Given the description of an element on the screen output the (x, y) to click on. 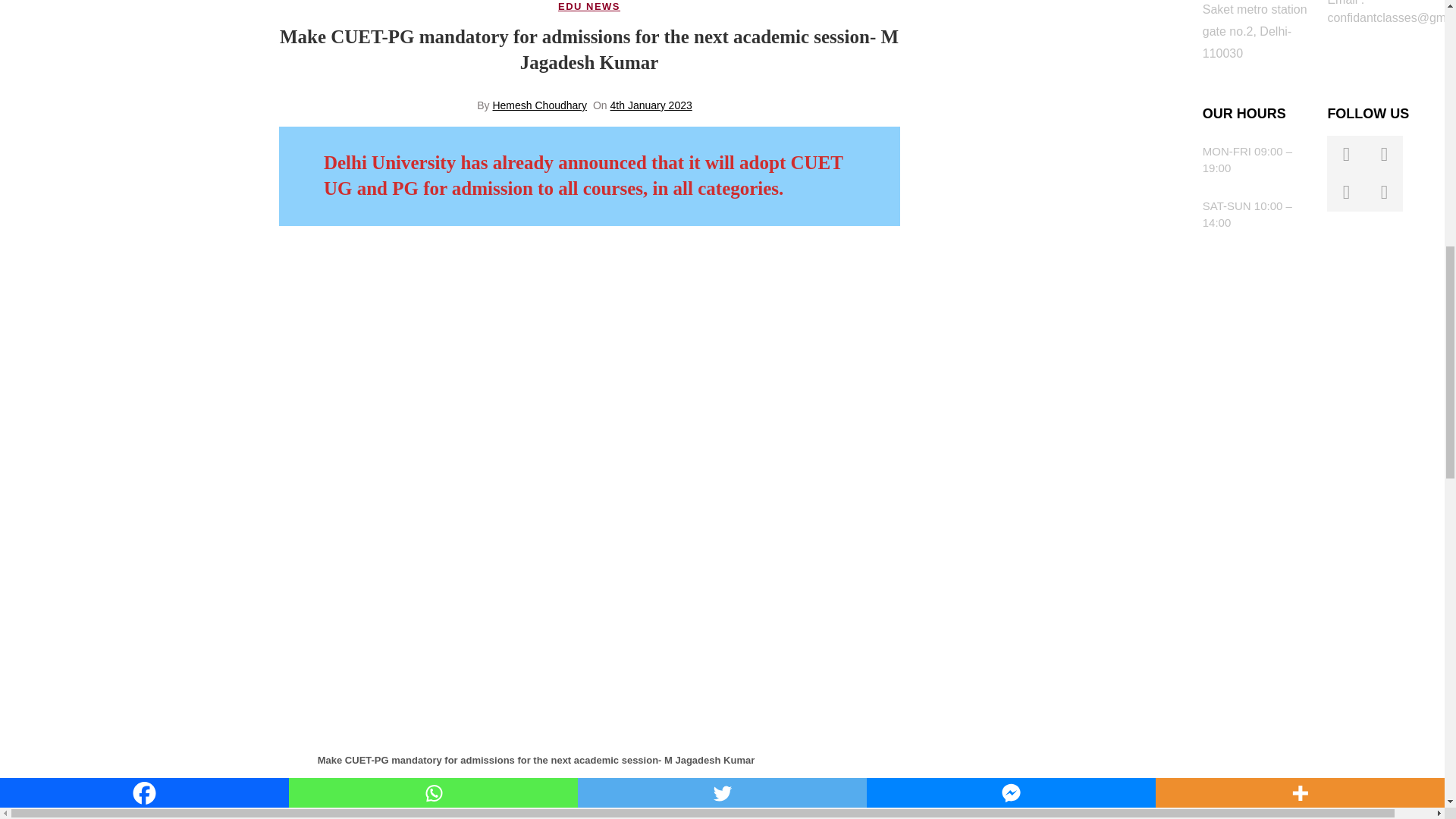
4th January 2023 (651, 105)
Hemesh Choudhary (539, 105)
EDU NEWS (588, 6)
Confidant Classes, Delhi (1023, 97)
